Given the description of an element on the screen output the (x, y) to click on. 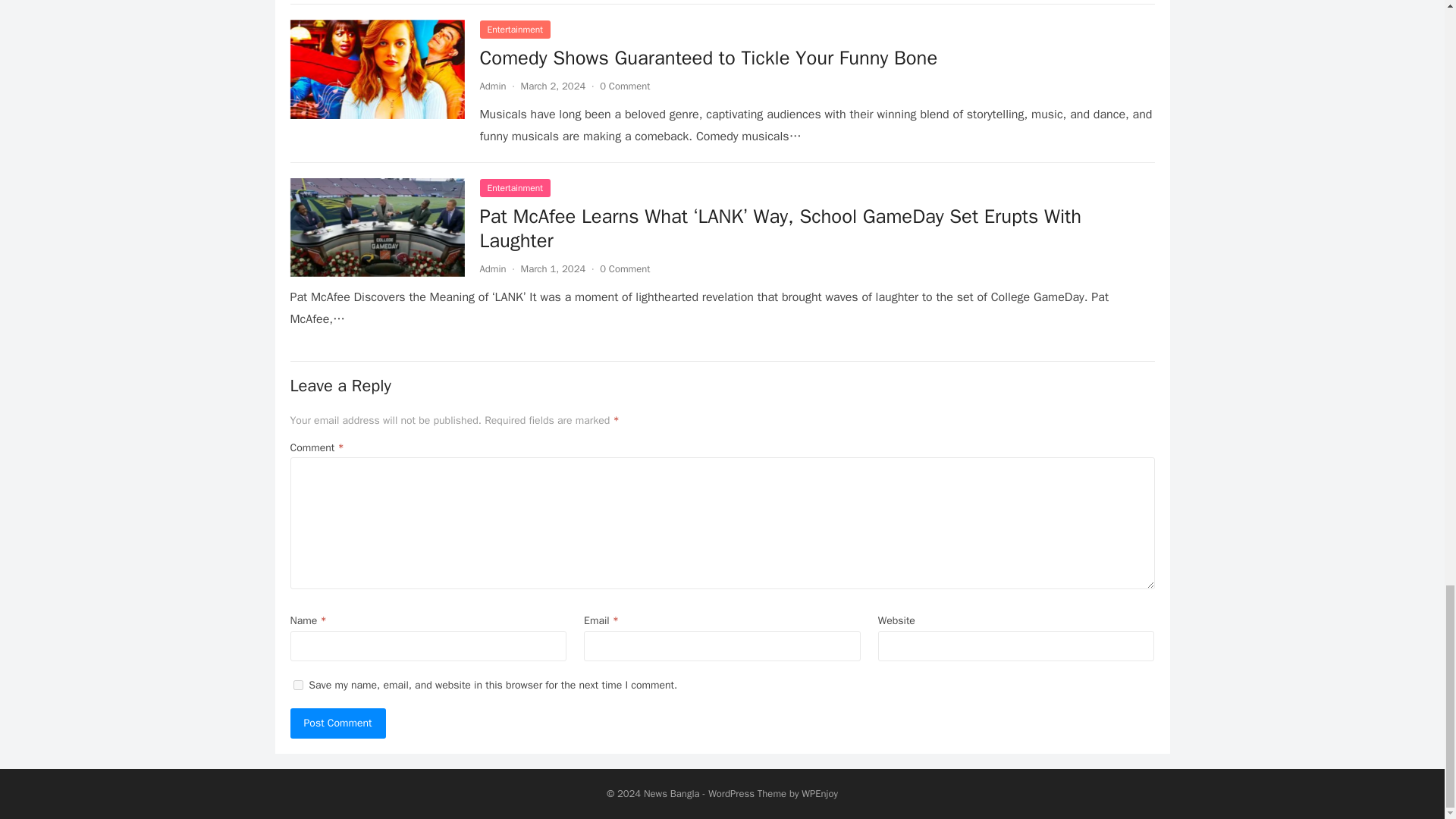
Posts by Admin (492, 85)
Comedy Shows Guaranteed to Tickle Your Funny Bone (708, 57)
Admin (492, 85)
Post Comment (337, 723)
Posts by Admin (492, 268)
Entertainment (514, 29)
yes (297, 685)
